Given the description of an element on the screen output the (x, y) to click on. 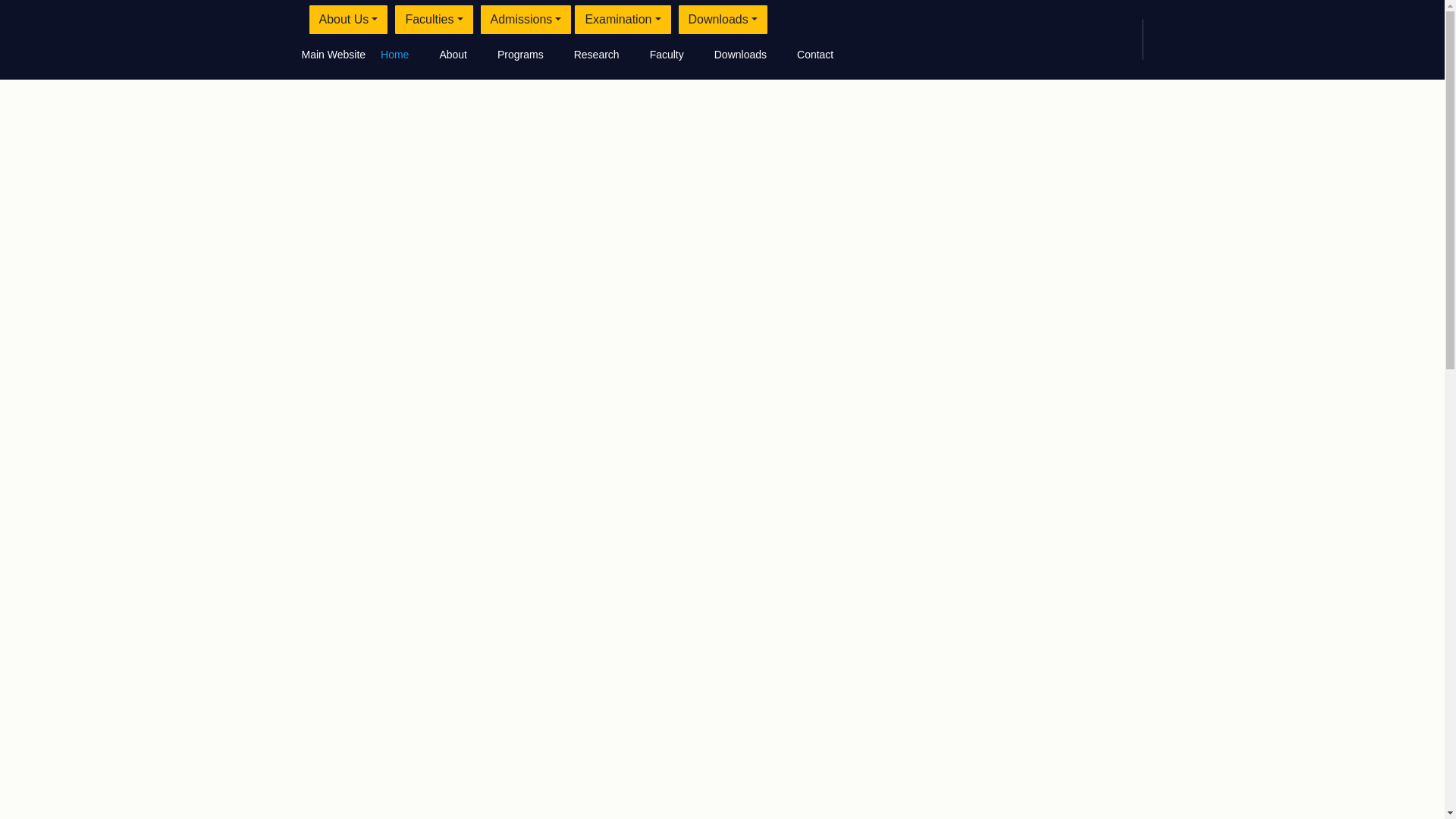
Faculties (432, 19)
About Us (348, 19)
Admissions (526, 19)
Downloads (722, 19)
Examination (622, 19)
